Given the description of an element on the screen output the (x, y) to click on. 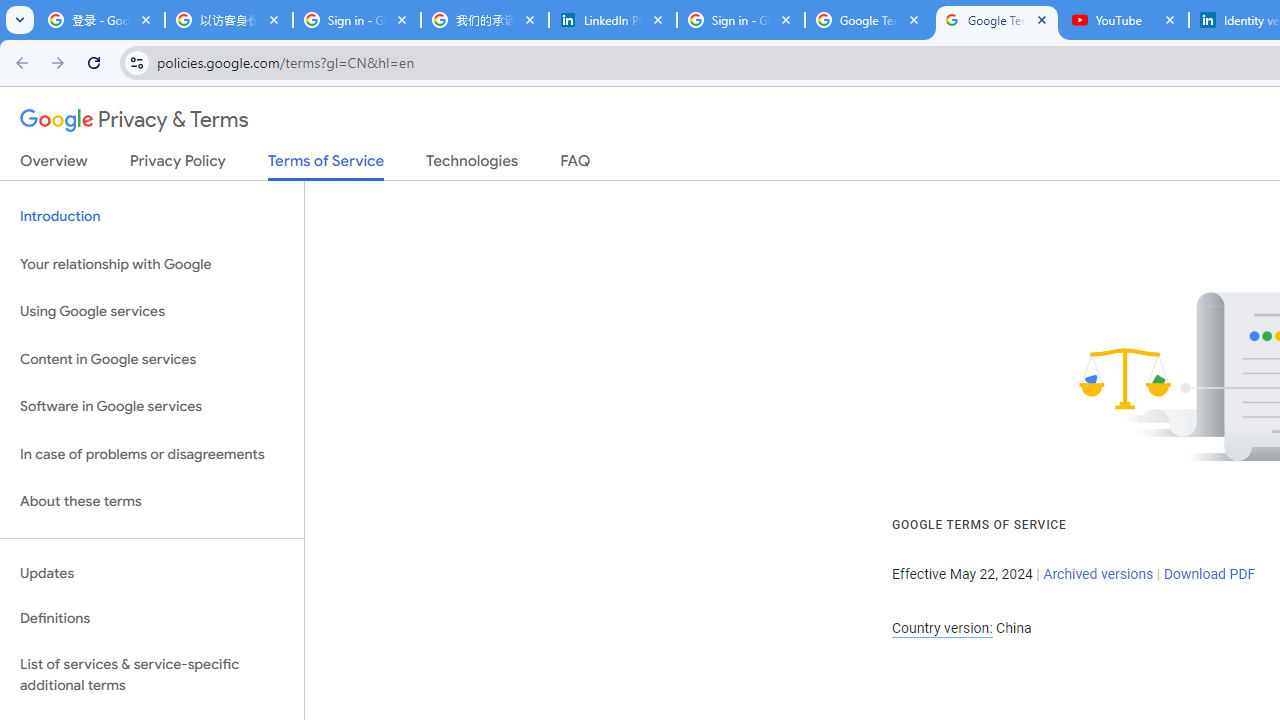
Software in Google services (152, 407)
LinkedIn Privacy Policy (613, 20)
YouTube (1125, 20)
Country version: (942, 628)
Download PDF (1209, 574)
